Given the description of an element on the screen output the (x, y) to click on. 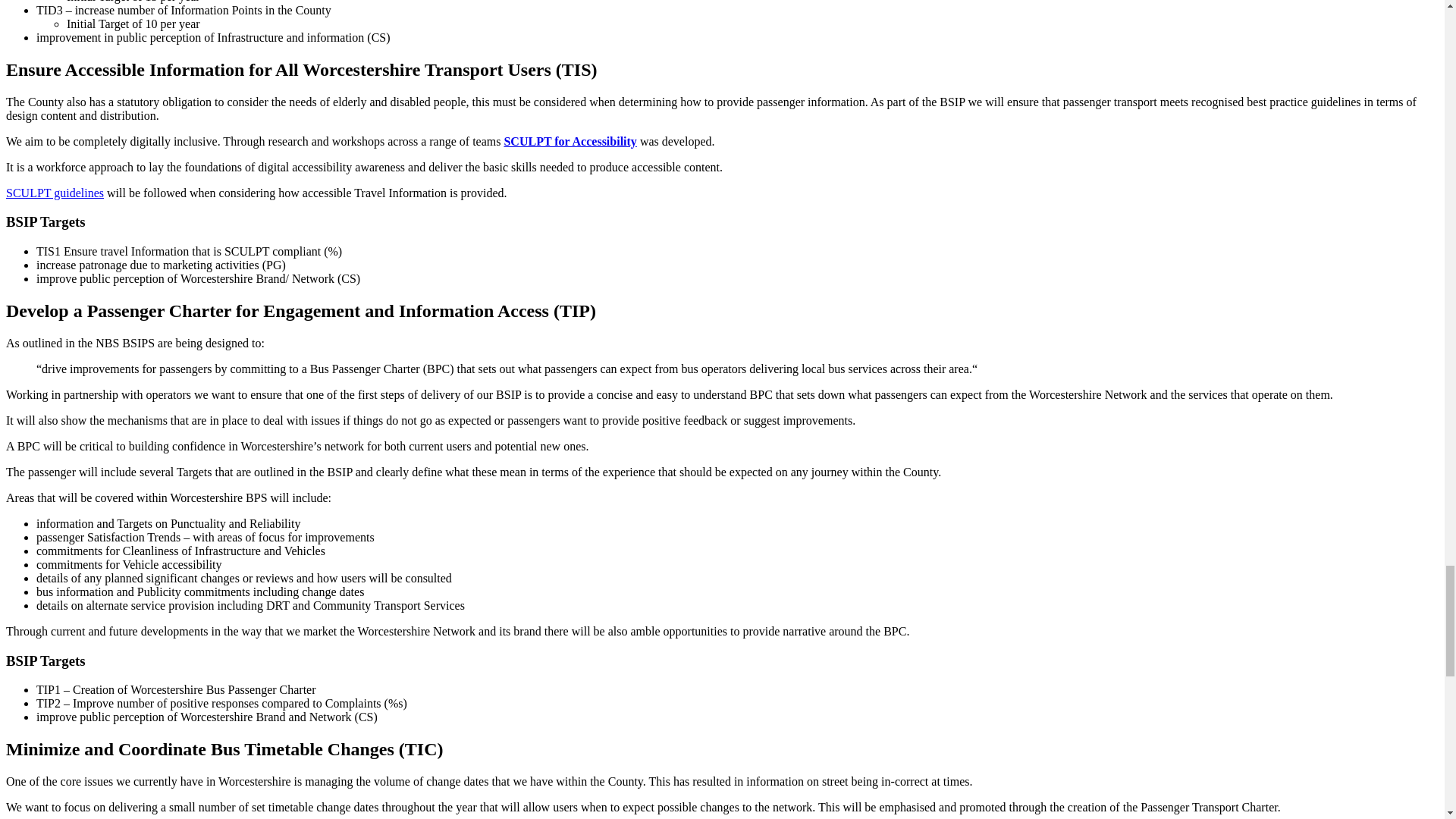
SCULPT for Accessibility (569, 141)
SCULPT for Accessibility (54, 192)
